Given the description of an element on the screen output the (x, y) to click on. 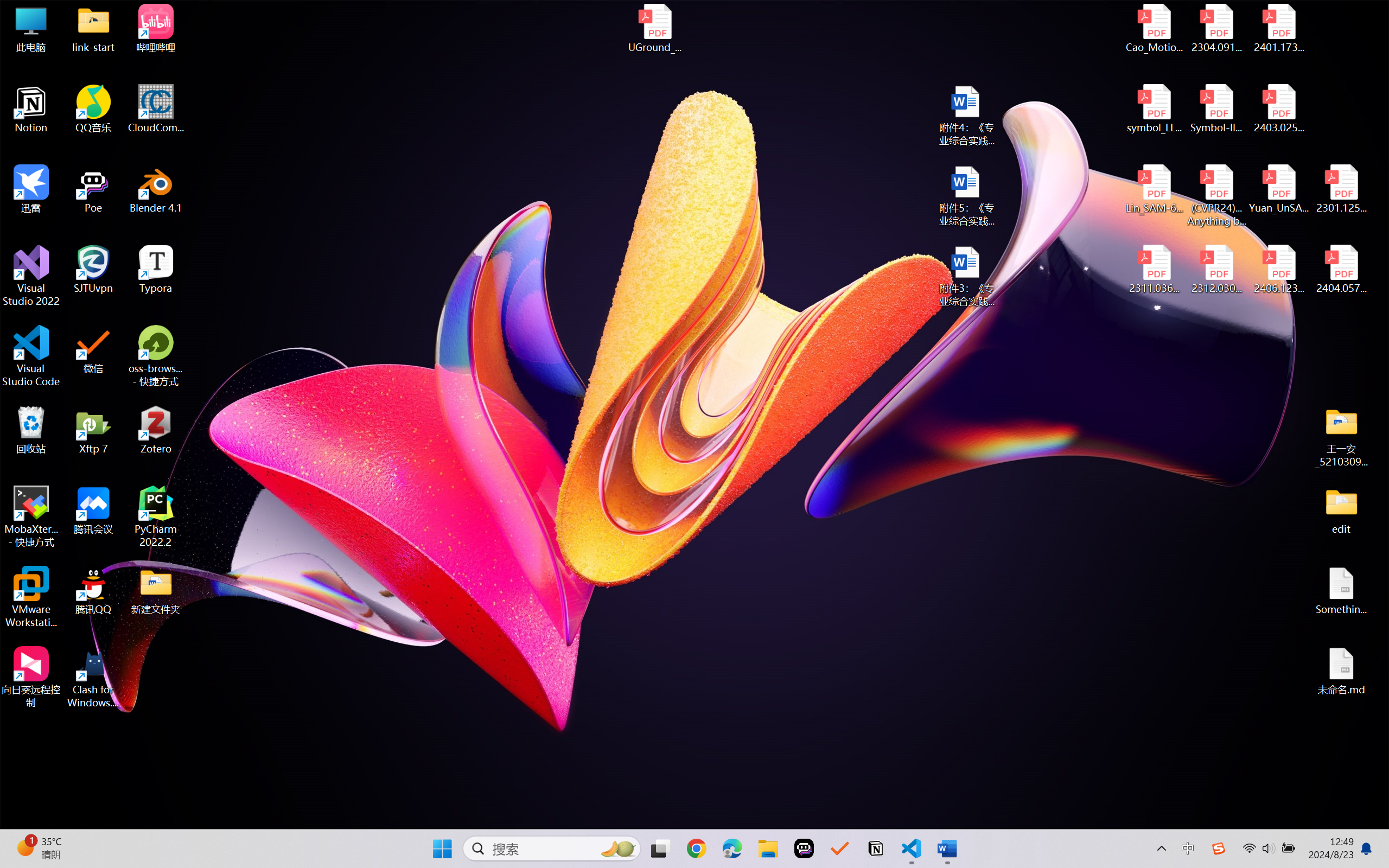
2301.12597v3.pdf (1340, 189)
2401.17399v1.pdf (1278, 28)
Symbol-llm-v2.pdf (1216, 109)
(CVPR24)Matching Anything by Segmenting Anything.pdf (1216, 195)
